Given the description of an element on the screen output the (x, y) to click on. 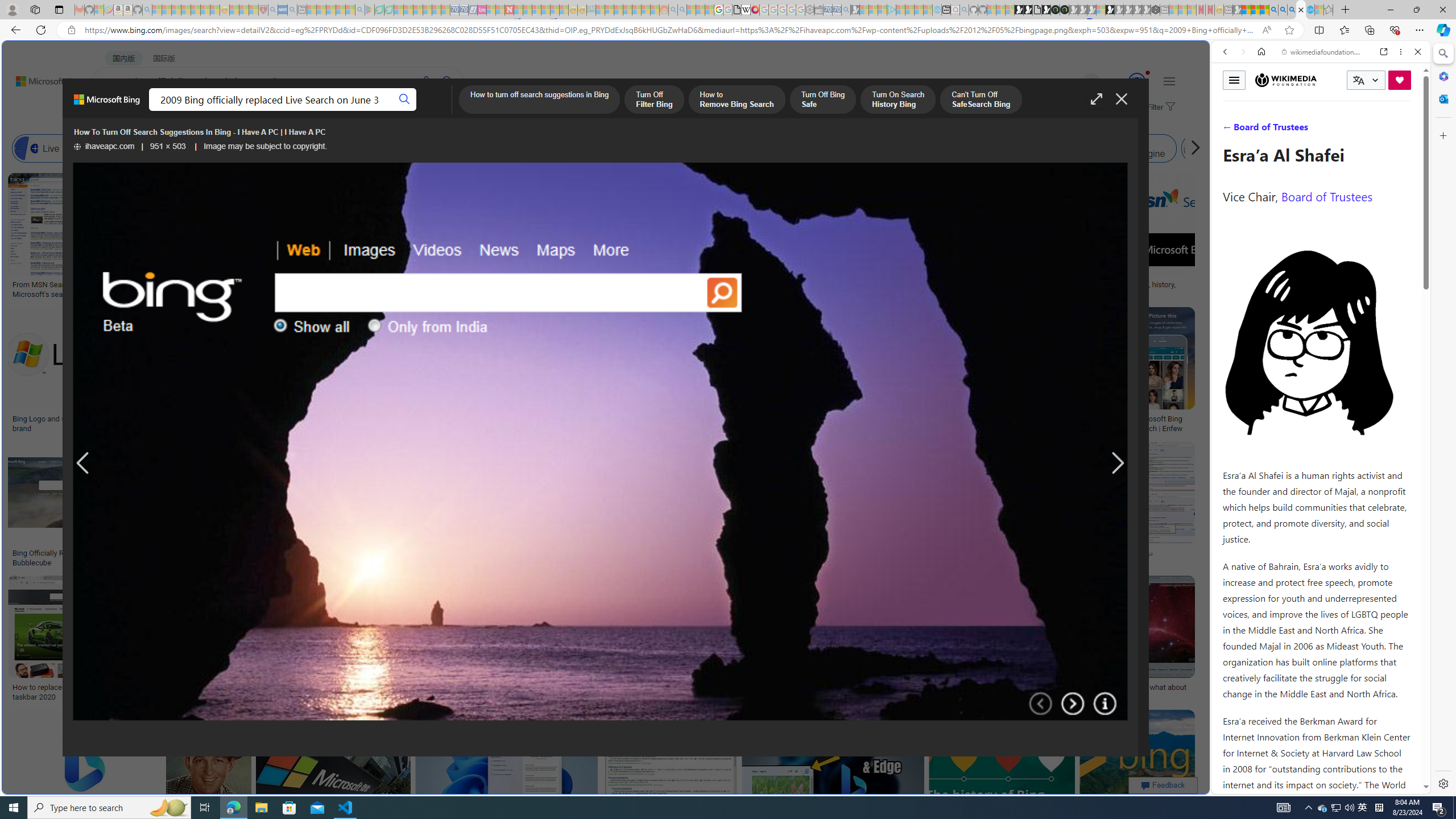
Bing (2009) (RARE/FAKE) - YouTube (925, 552)
This site scope (1259, 102)
Previous image result (82, 463)
DITOGAMES AG Imprint - Sleeping (590, 9)
Microsoft Start - Sleeping (919, 9)
Toggle menu (1233, 80)
Kinda Frugal - MSN - Sleeping (636, 9)
